Given the description of an element on the screen output the (x, y) to click on. 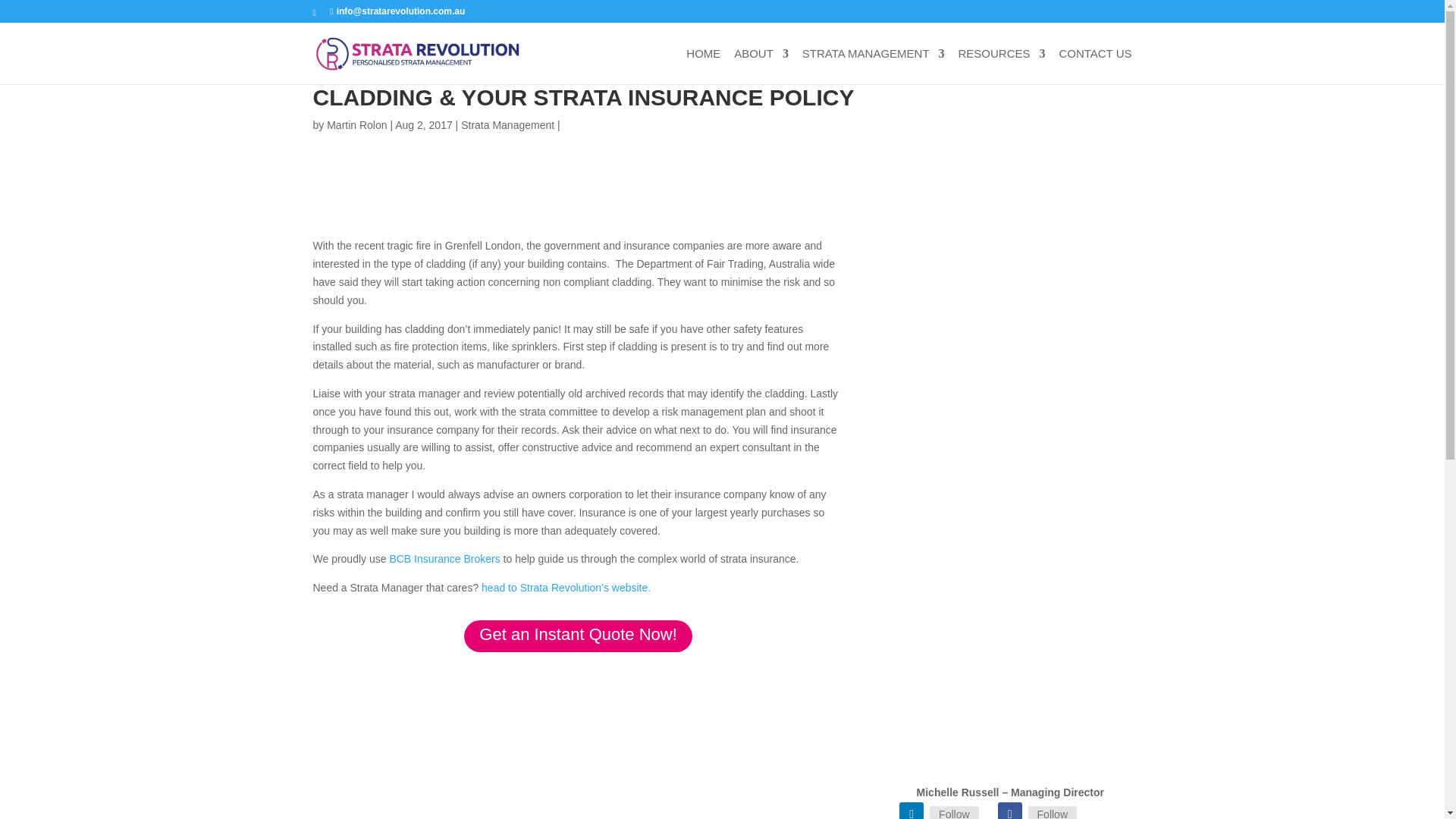
Facebook (1052, 812)
CONTACT US (1094, 66)
Strata Management (507, 124)
ABOUT (761, 66)
LinkedIn (954, 812)
STRATA MANAGEMENT (873, 66)
Posts by Martin Rolon (356, 124)
LinkedIn (911, 810)
HOME (702, 66)
RESOURCES (1001, 66)
Martin Rolon (356, 124)
Facebook (1009, 810)
